Given the description of an element on the screen output the (x, y) to click on. 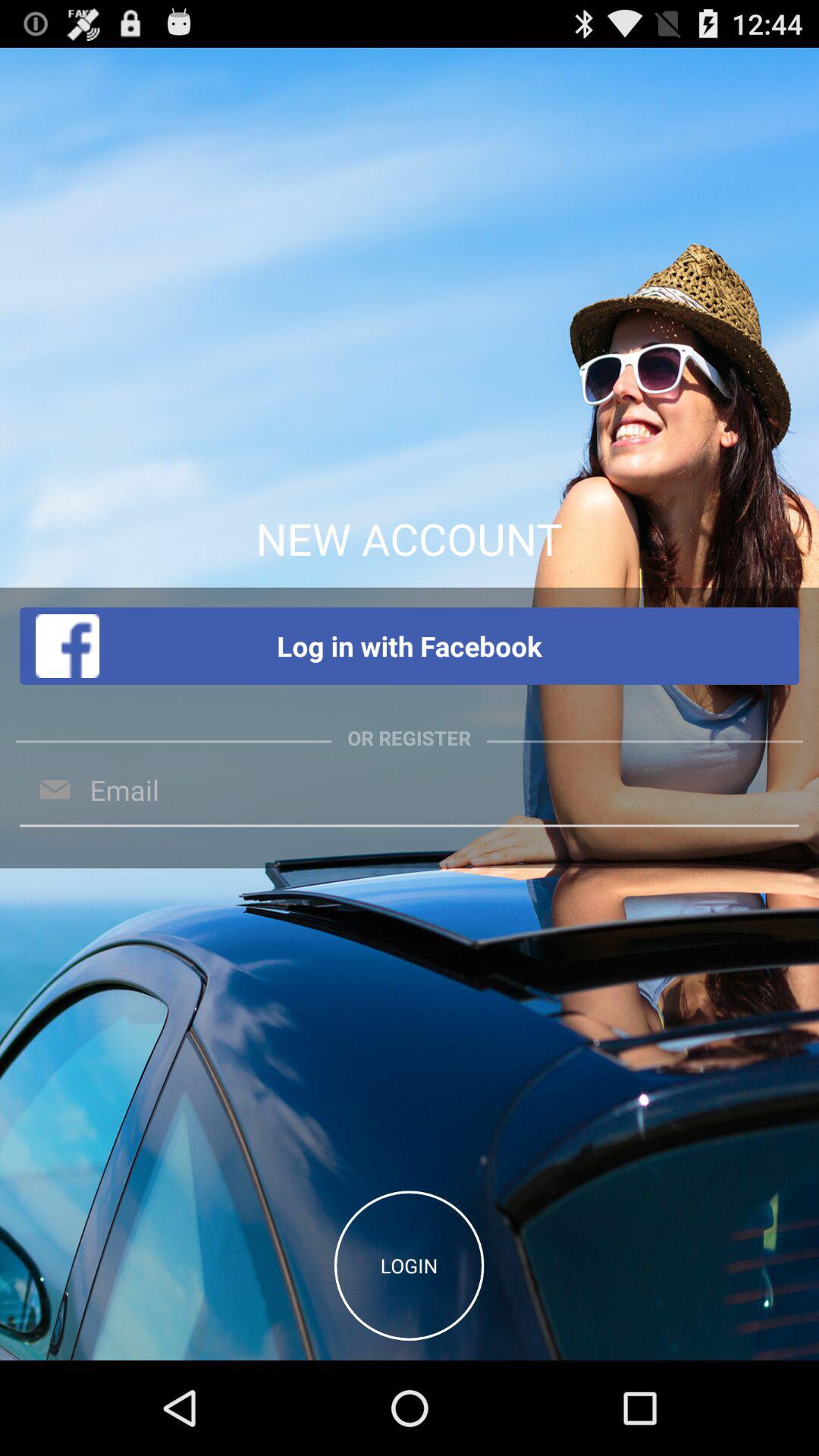
open the icon above or register icon (409, 645)
